Given the description of an element on the screen output the (x, y) to click on. 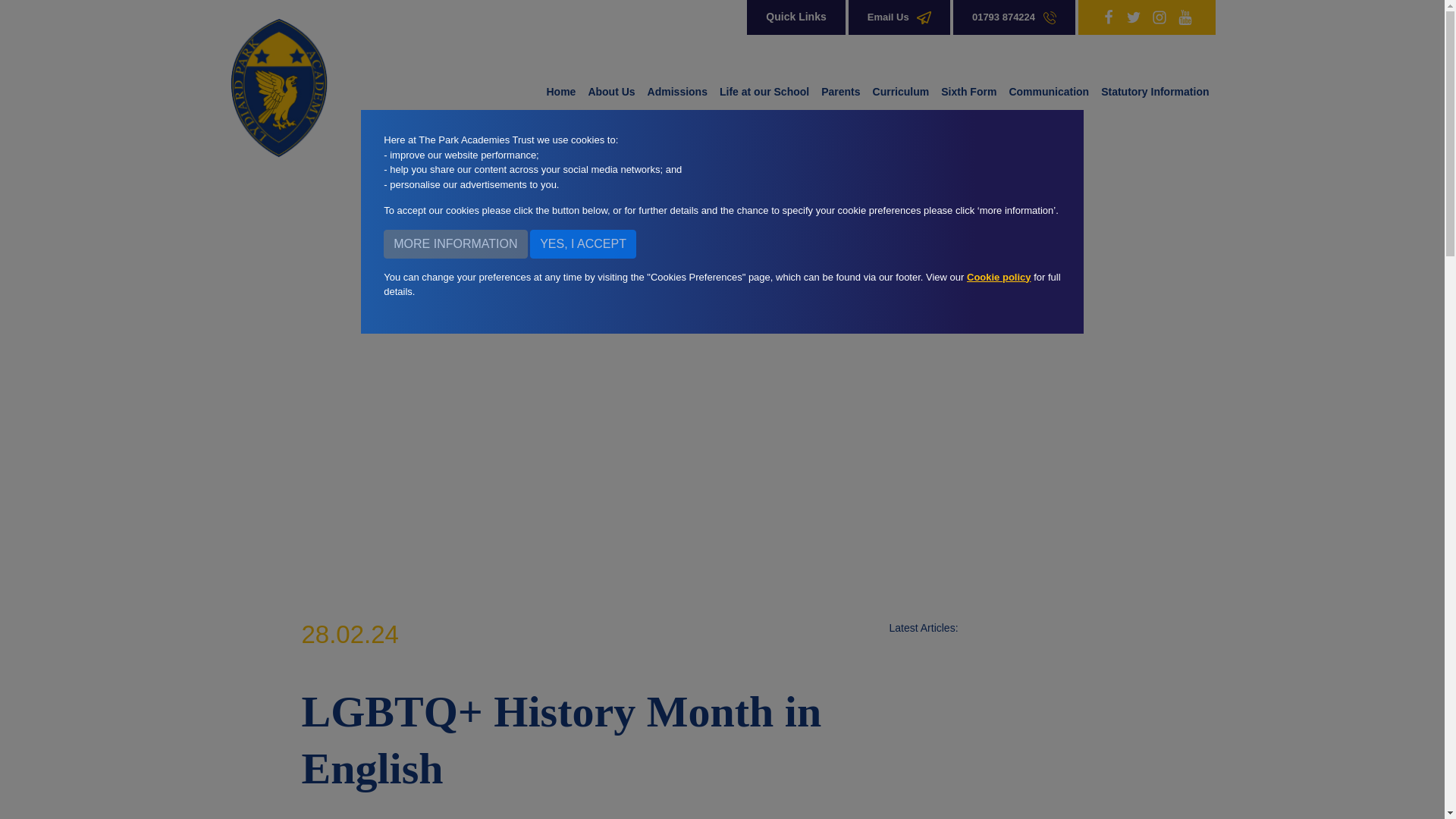
Home (560, 91)
Quick Links (795, 16)
MORE INFORMATION (455, 243)
YES, I ACCEPT (582, 243)
Cookie policy (998, 278)
About Us (610, 91)
MORE INFORMATION (455, 243)
Facebook page (1108, 16)
Youtube page (1184, 16)
Email Us   (899, 16)
